Given the description of an element on the screen output the (x, y) to click on. 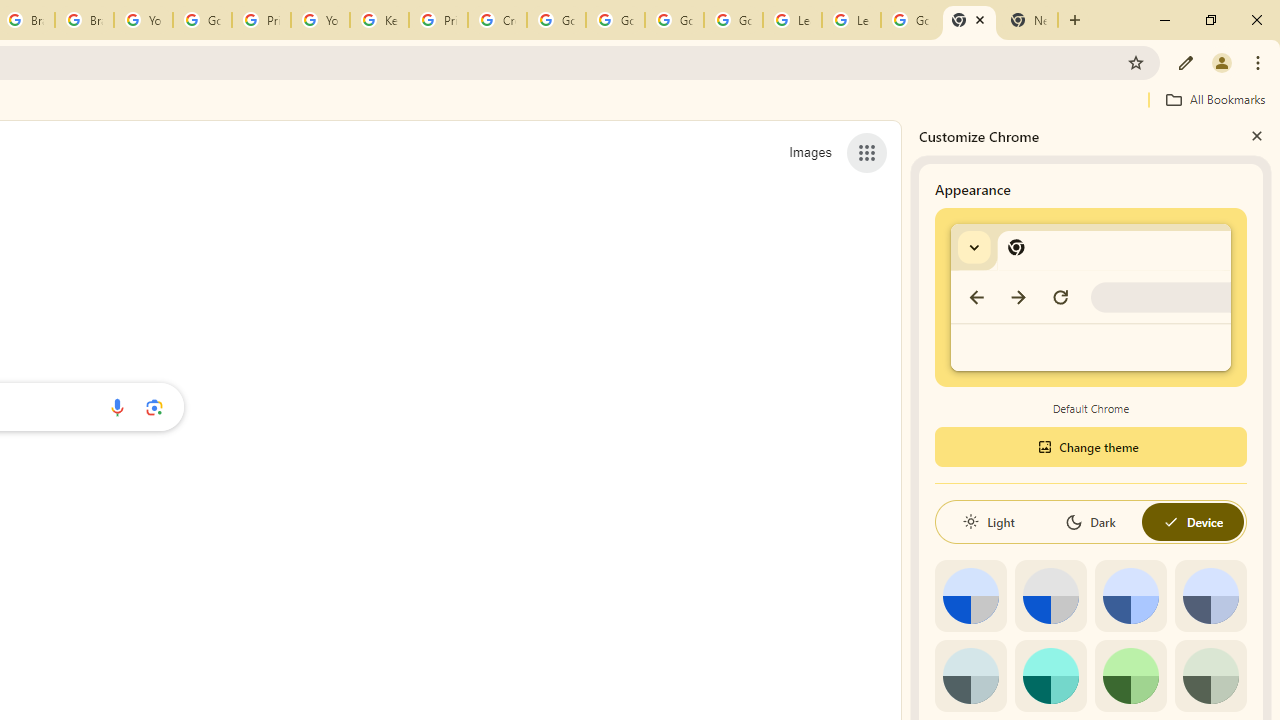
Change theme (1090, 446)
Grey default color (1050, 596)
Google Account (909, 20)
AutomationID: baseSvg (1170, 521)
Customize Chrome (1185, 62)
New Tab (1028, 20)
YouTube (319, 20)
Cool grey (1210, 596)
Google Account Help (674, 20)
